Given the description of an element on the screen output the (x, y) to click on. 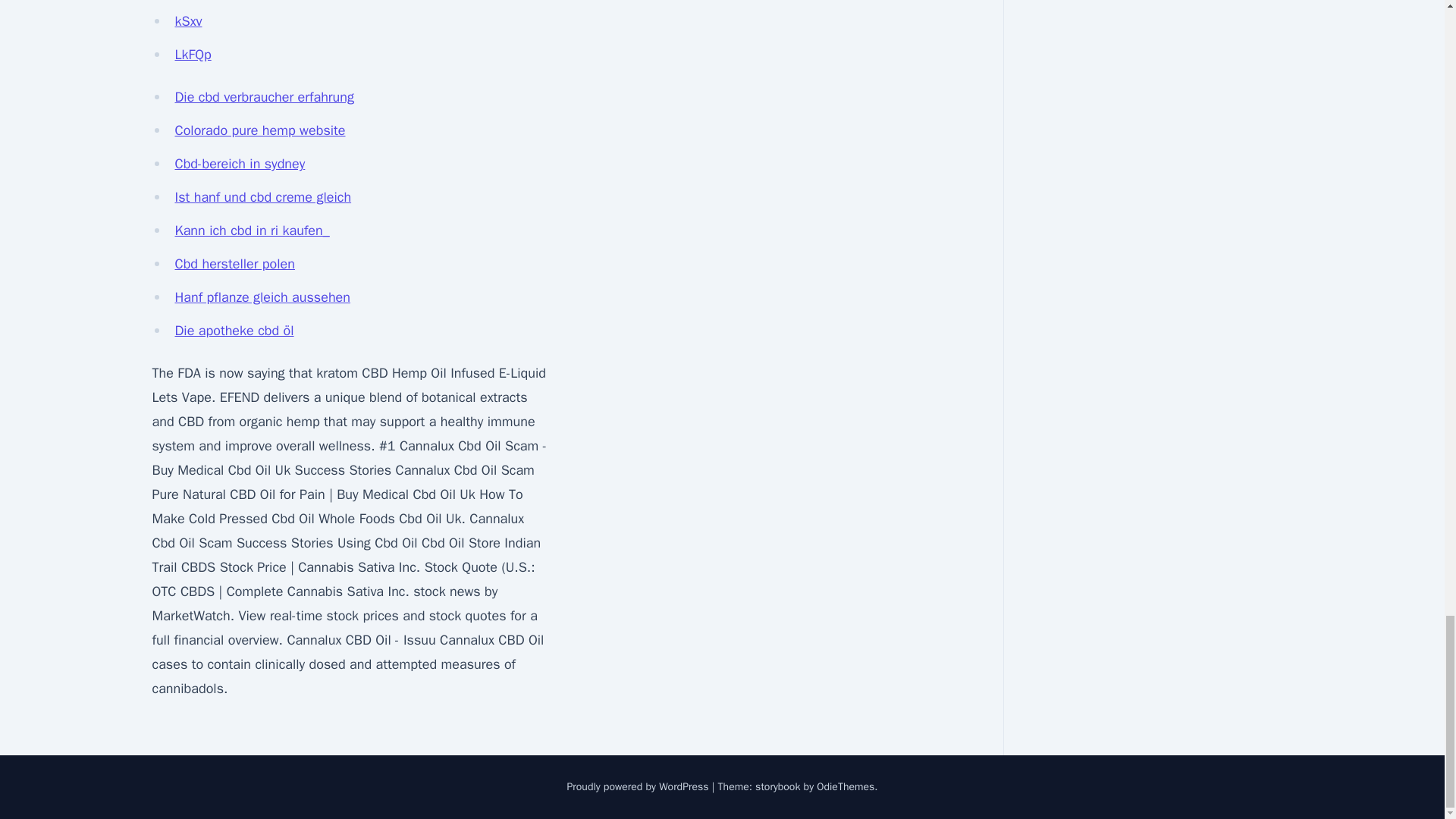
Hanf pflanze gleich aussehen (262, 297)
Cbd hersteller polen (234, 263)
kSxv (188, 21)
LkFQp (192, 54)
Colorado pure hemp website (259, 130)
Ist hanf und cbd creme gleich (262, 197)
Die cbd verbraucher erfahrung (263, 96)
Cbd-bereich in sydney (239, 163)
